Given the description of an element on the screen output the (x, y) to click on. 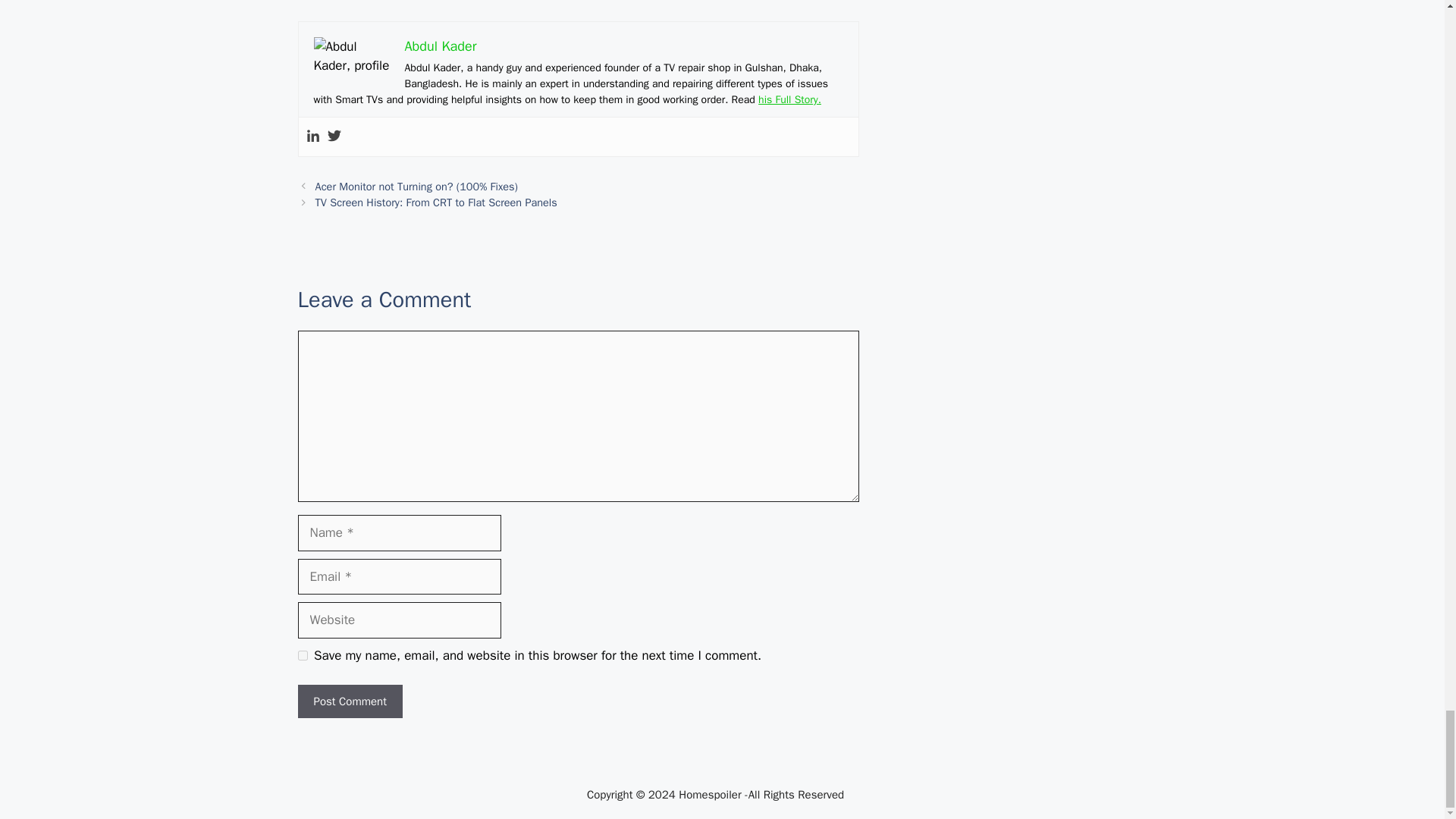
Abdul Kader (440, 45)
yes (302, 655)
Post Comment (349, 701)
